Given the description of an element on the screen output the (x, y) to click on. 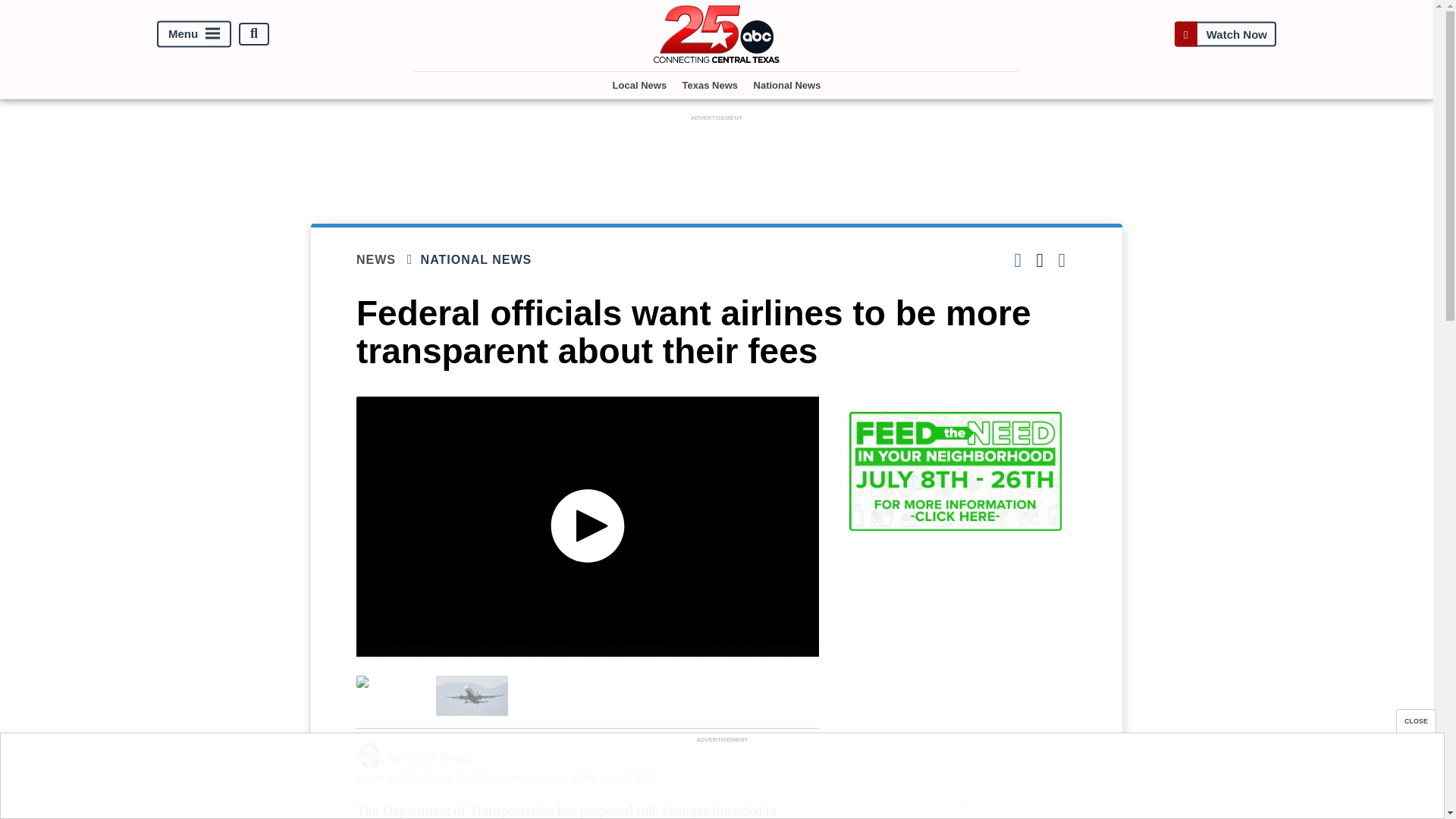
3rd party ad content (962, 815)
Menu (194, 33)
Watch Now (1224, 33)
3rd party ad content (716, 159)
3rd party ad content (721, 780)
